Given the description of an element on the screen output the (x, y) to click on. 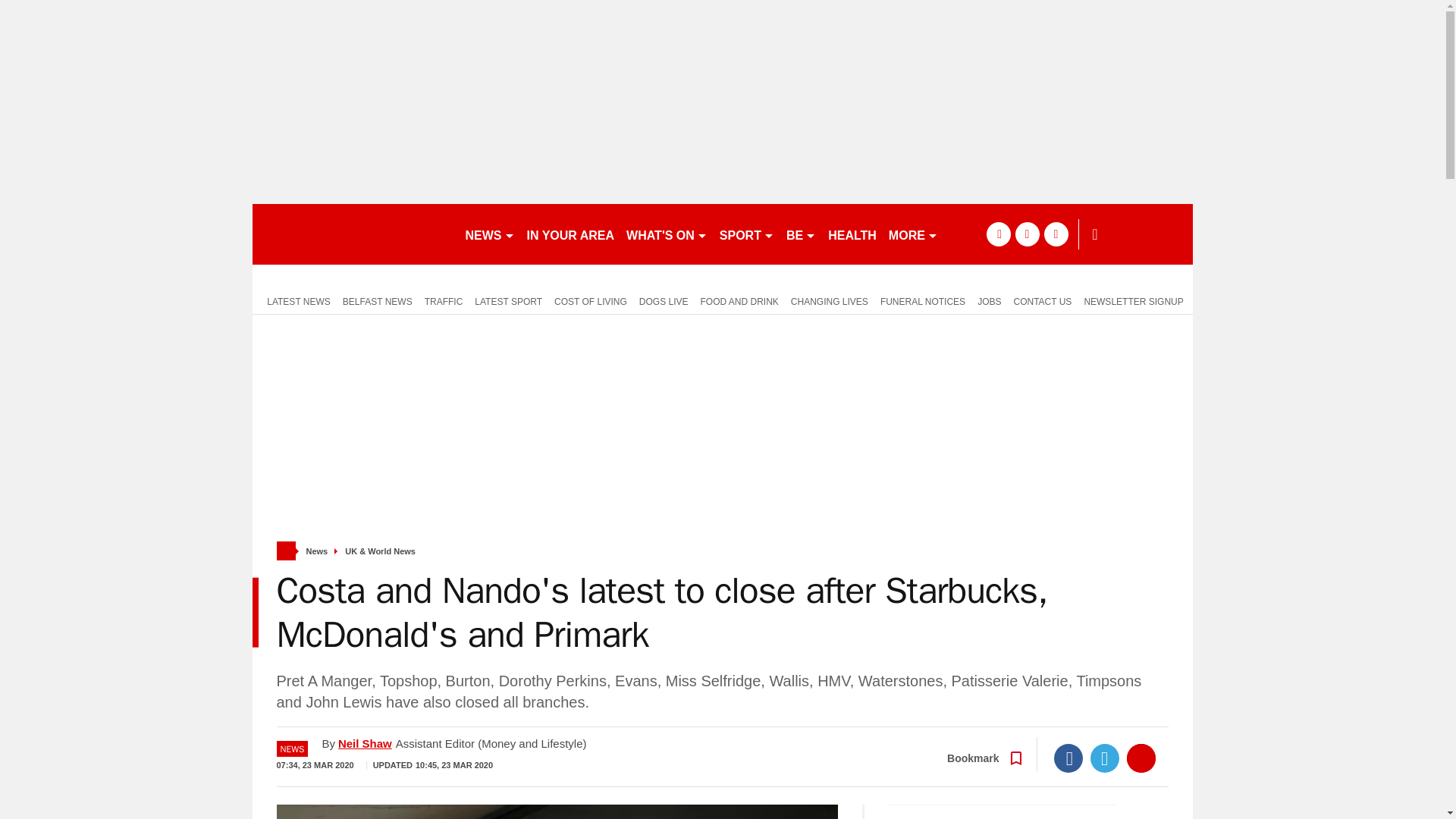
Facebook (1068, 758)
WHAT'S ON (666, 233)
facebook (997, 233)
twitter (1026, 233)
SPORT (746, 233)
instagram (1055, 233)
IN YOUR AREA (569, 233)
belfastlive (351, 233)
NEWS (490, 233)
Twitter (1104, 758)
